Given the description of an element on the screen output the (x, y) to click on. 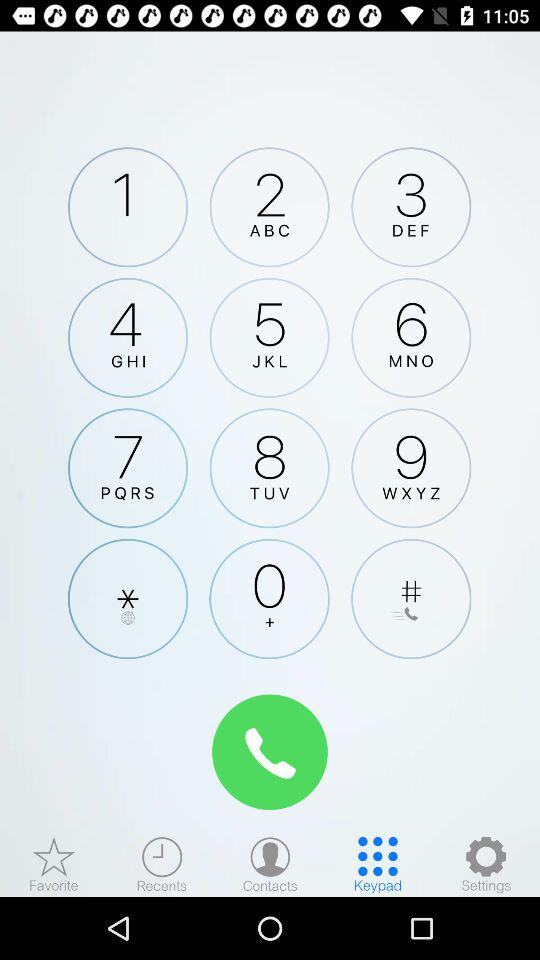
keypad number 7 (127, 468)
